Given the description of an element on the screen output the (x, y) to click on. 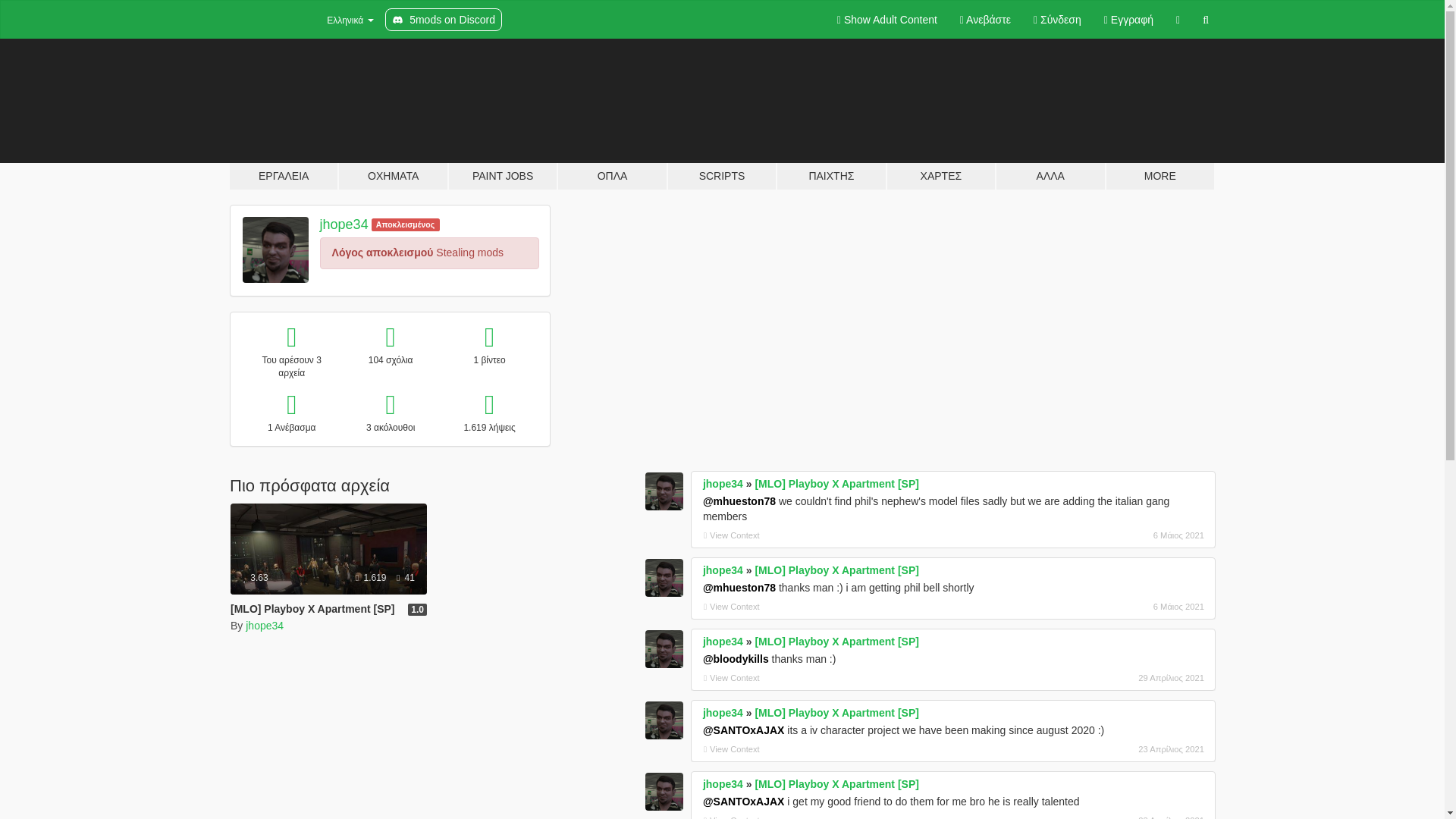
1.0 (416, 609)
jhope34 (264, 625)
Light mode (887, 19)
5mods on Discord (443, 19)
Show Adult Content (887, 19)
3.63 star rating (255, 577)
